Given the description of an element on the screen output the (x, y) to click on. 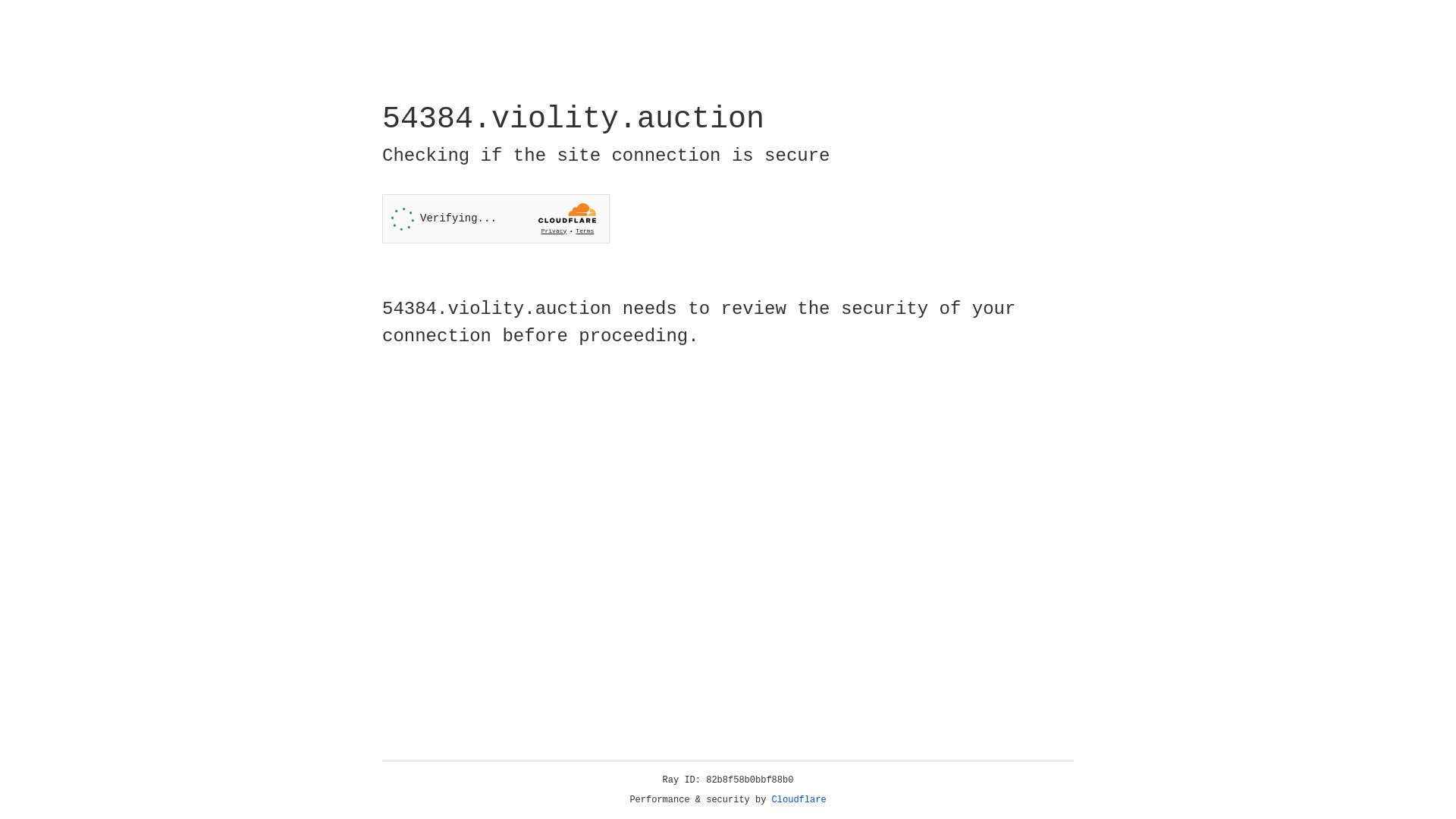
Widget containing a Cloudflare security challenge Element type: hover (495, 218)
Cloudflare Element type: text (798, 799)
